Given the description of an element on the screen output the (x, y) to click on. 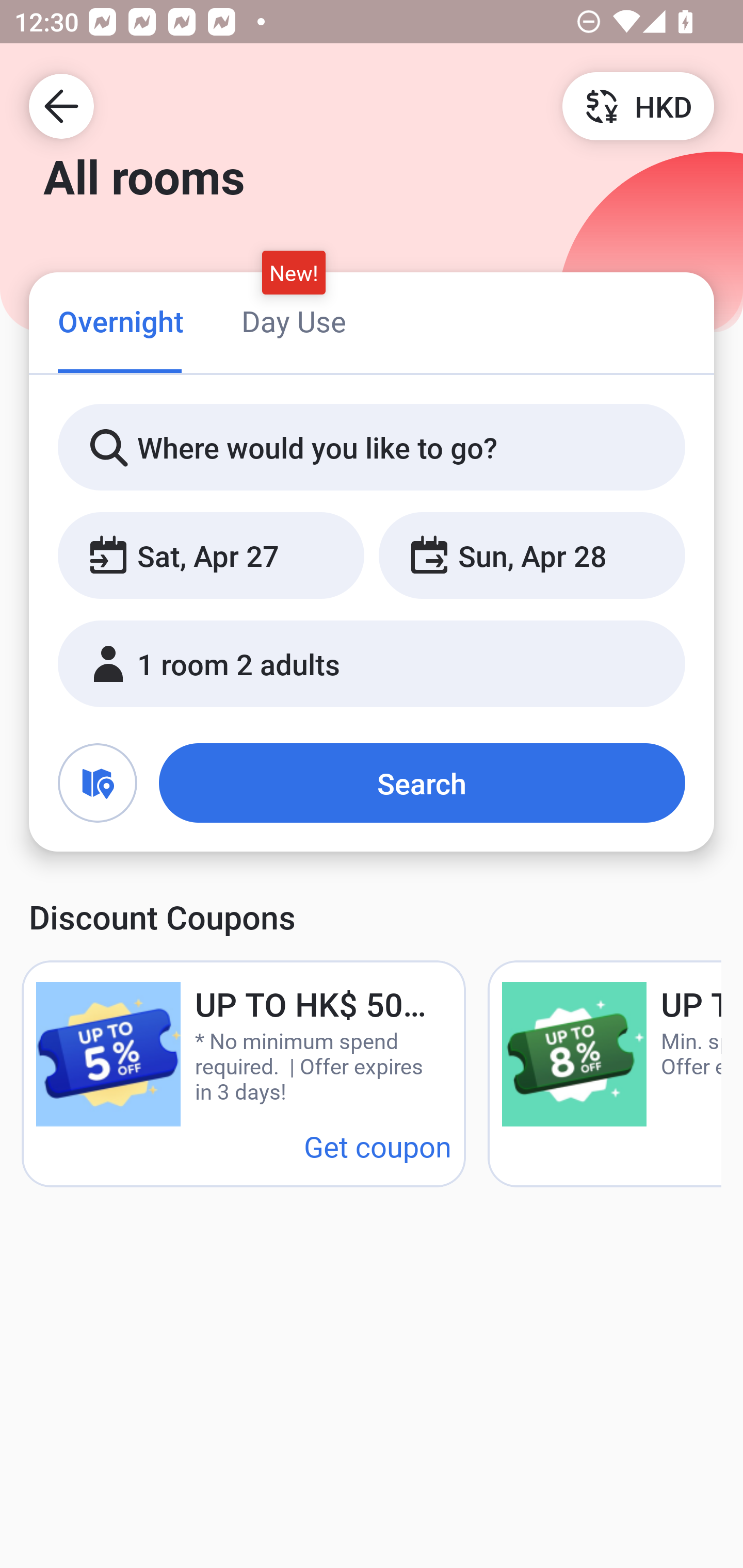
HKD (638, 105)
New! (294, 272)
Day Use (293, 321)
Where would you like to go? (371, 447)
Sat, Apr 27 (210, 555)
Sun, Apr 28 (531, 555)
1 room 2 adults (371, 663)
Search (422, 783)
Get coupon (377, 1146)
